Given the description of an element on the screen output the (x, y) to click on. 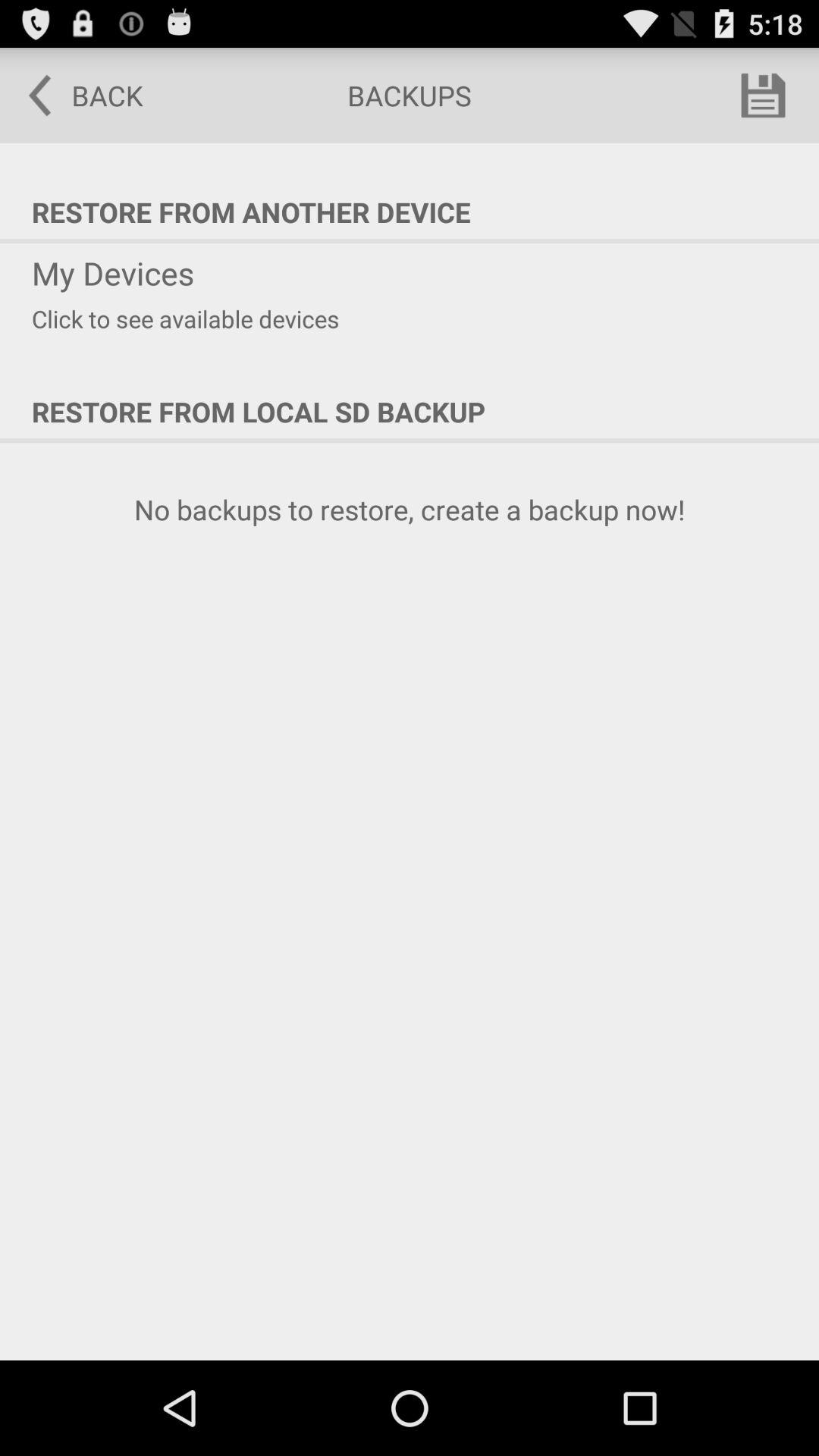
save option (763, 95)
